Given the description of an element on the screen output the (x, y) to click on. 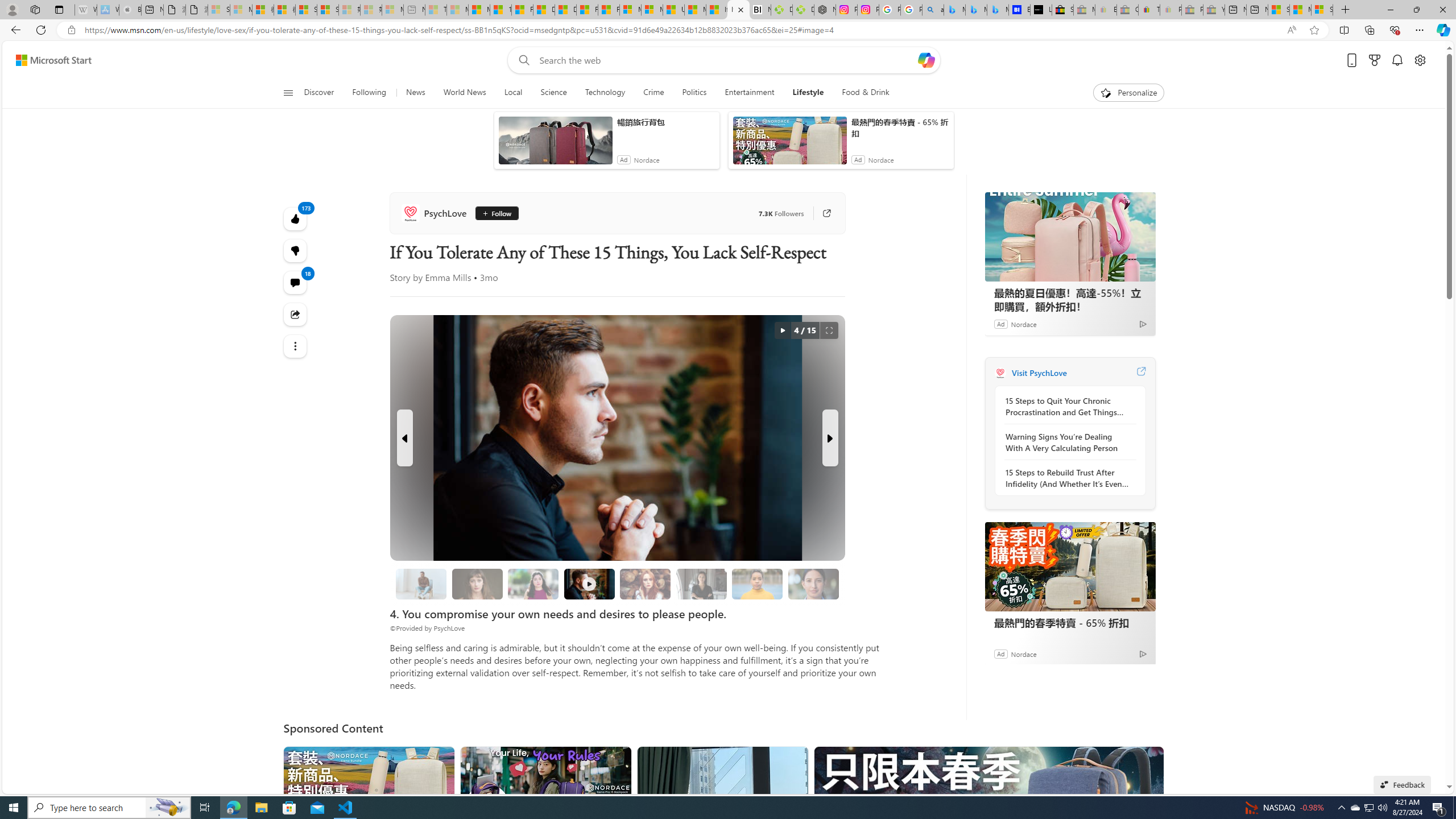
Full screen (828, 330)
4. You can name and understand your feelings. (533, 583)
Descarga Driver Updater (802, 9)
Microsoft Bing Travel - Flights from Hong Kong to Bangkok (954, 9)
PsychLove (1000, 372)
8. Surround yourself with solution-oriented people. (700, 583)
